Given the description of an element on the screen output the (x, y) to click on. 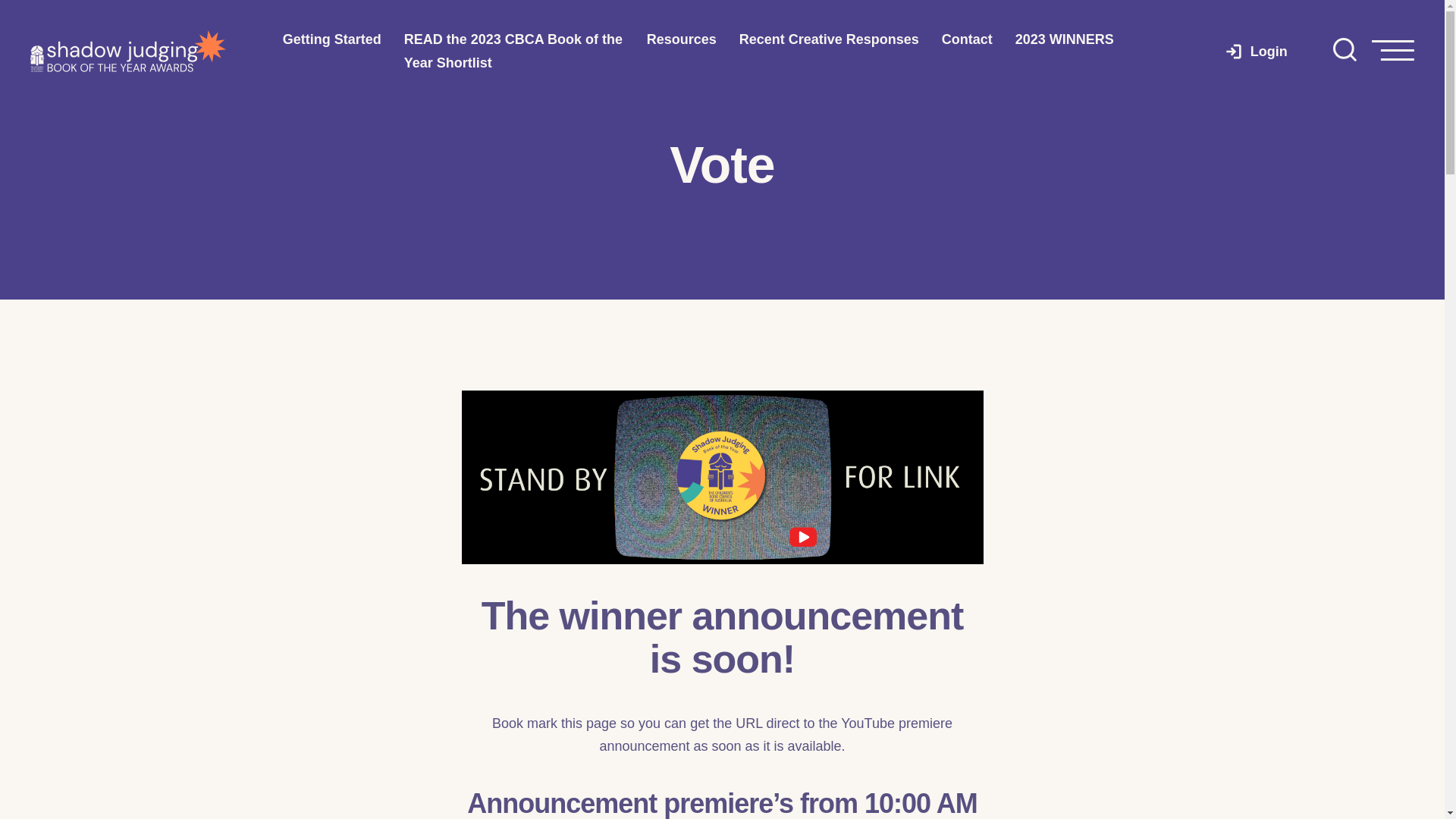
Recent Creative Responses Element type: text (829, 39)
Resources Element type: text (681, 39)
READ the 2023 CBCA Book of the Year Shortlist Element type: text (513, 51)
Contact Element type: text (967, 39)
Getting Started Element type: text (331, 39)
Open Search Element type: hover (1344, 50)
2023 WINNERS Element type: text (1064, 39)
Login Element type: text (1255, 51)
Open Menu Element type: hover (1392, 51)
